Given the description of an element on the screen output the (x, y) to click on. 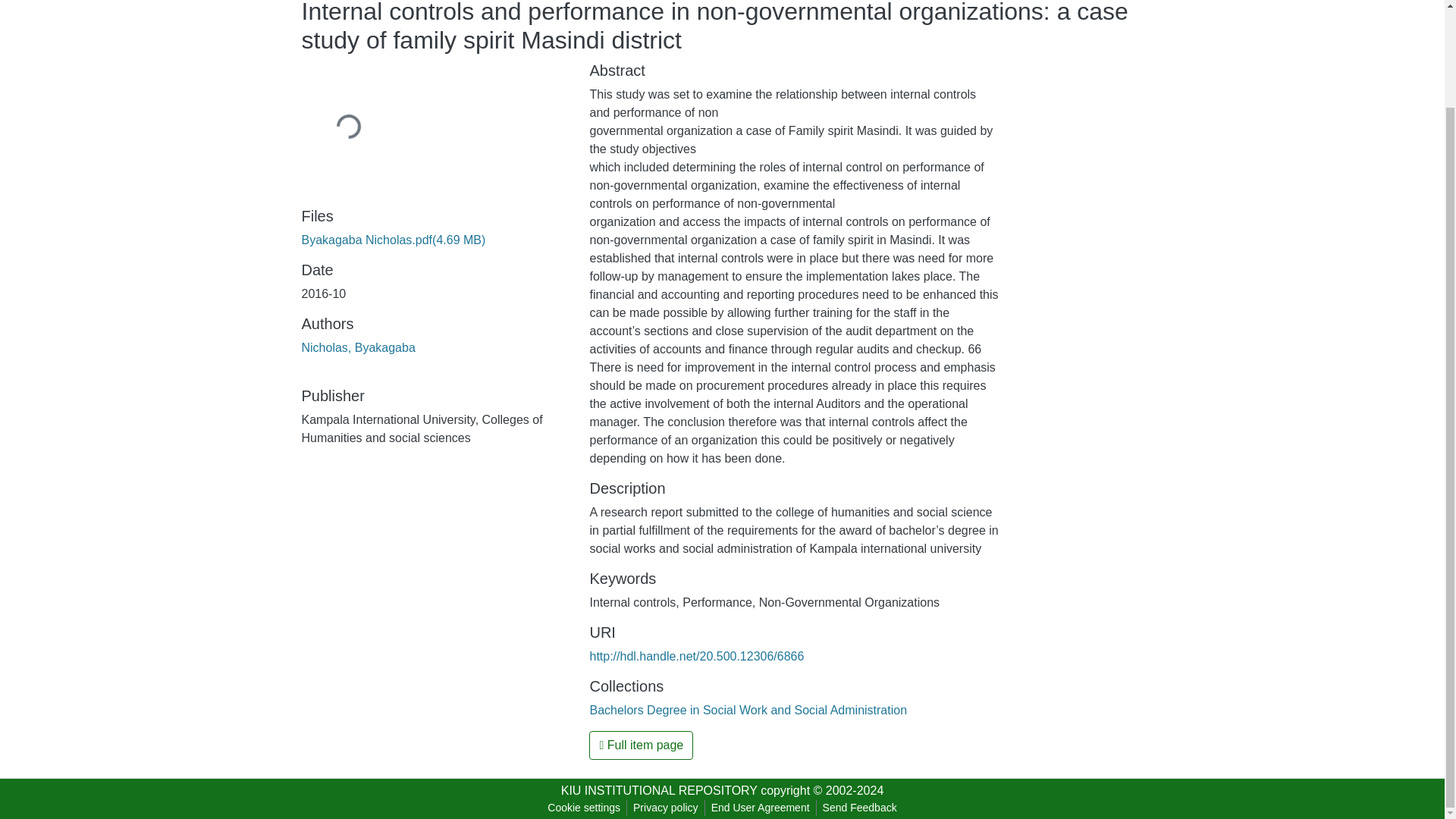
Full item page (641, 745)
End User Agreement (759, 807)
Bachelors Degree in Social Work and Social Administration (748, 709)
Send Feedback (859, 807)
KIU INSTITUTIONAL REPOSITORY (658, 789)
Cookie settings (583, 807)
Privacy policy (665, 807)
Nicholas, Byakagaba (357, 347)
